Given the description of an element on the screen output the (x, y) to click on. 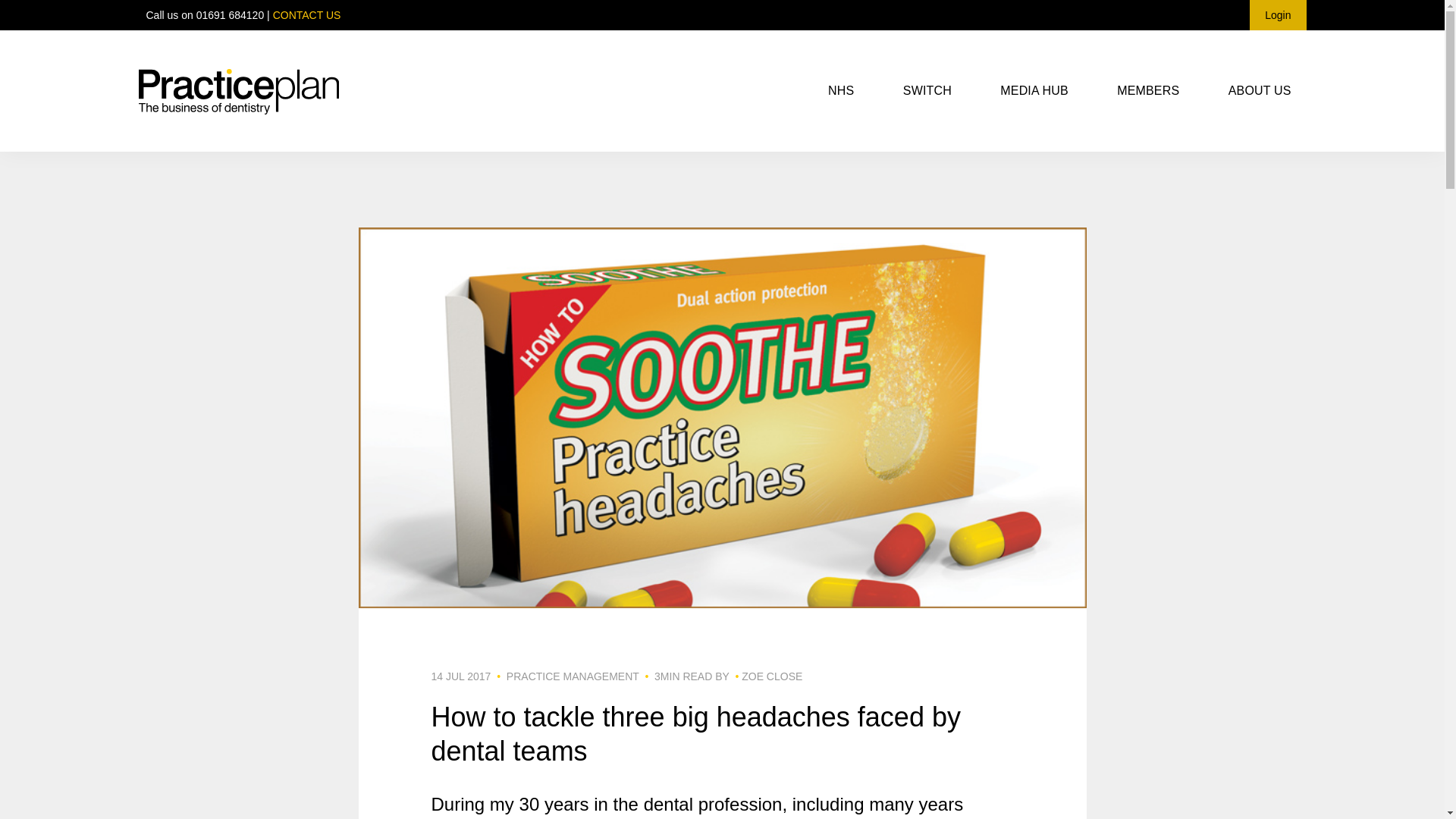
SWITCH (927, 91)
Login (1277, 15)
CONTACT US (306, 15)
MEMBERS (1147, 91)
ABOUT US (1259, 91)
01691 684120 (230, 15)
MEDIA HUB (1033, 91)
